Given the description of an element on the screen output the (x, y) to click on. 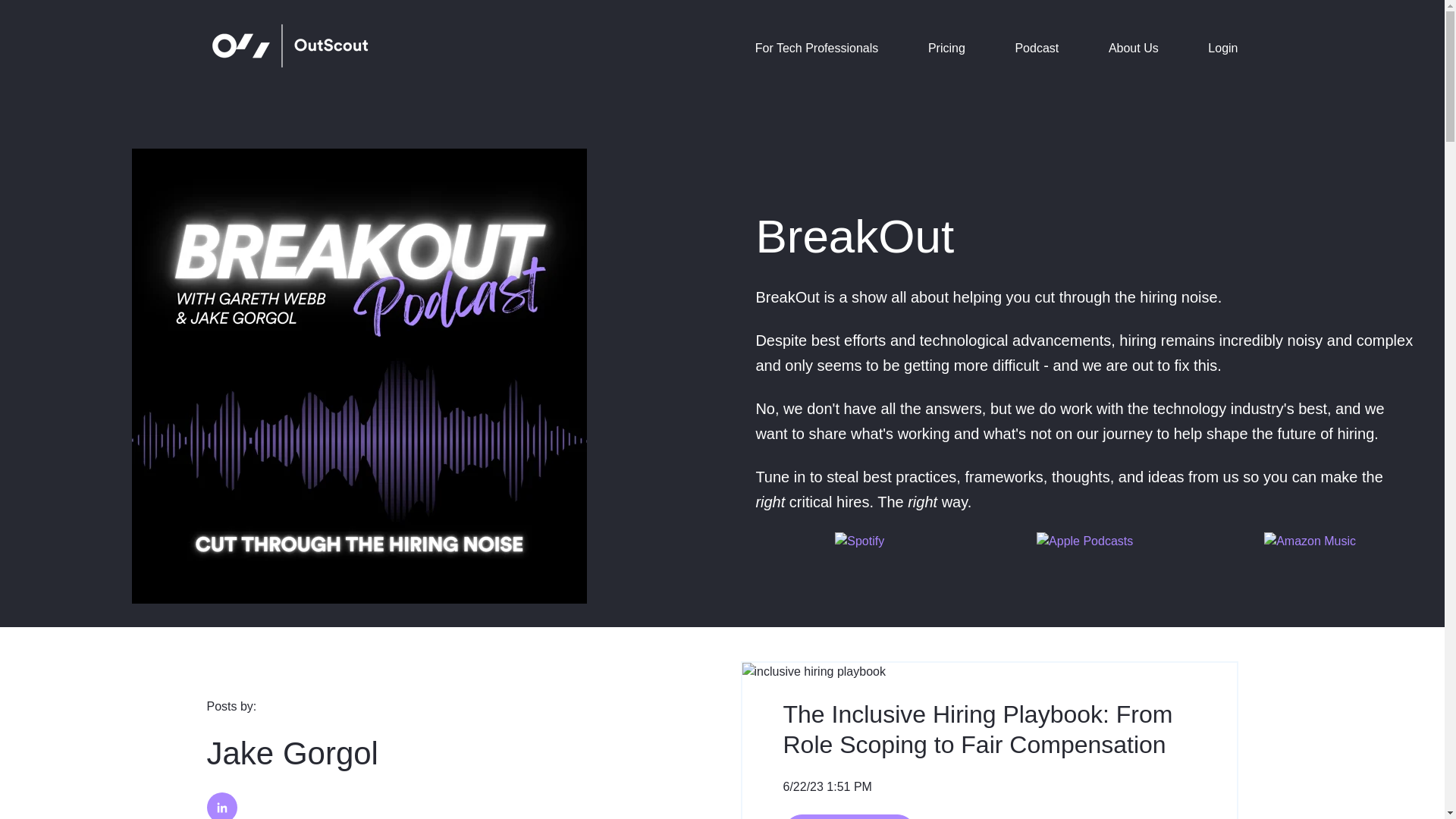
Listen Now (849, 816)
Spotify (858, 541)
For Tech Professionals (816, 47)
About Us (1133, 47)
Pricing (946, 47)
OutScout Logo Lockup (289, 45)
Amazon Music (1309, 541)
Login (1222, 47)
Apple Podcasts (1084, 541)
Podcast (1036, 47)
